Given the description of an element on the screen output the (x, y) to click on. 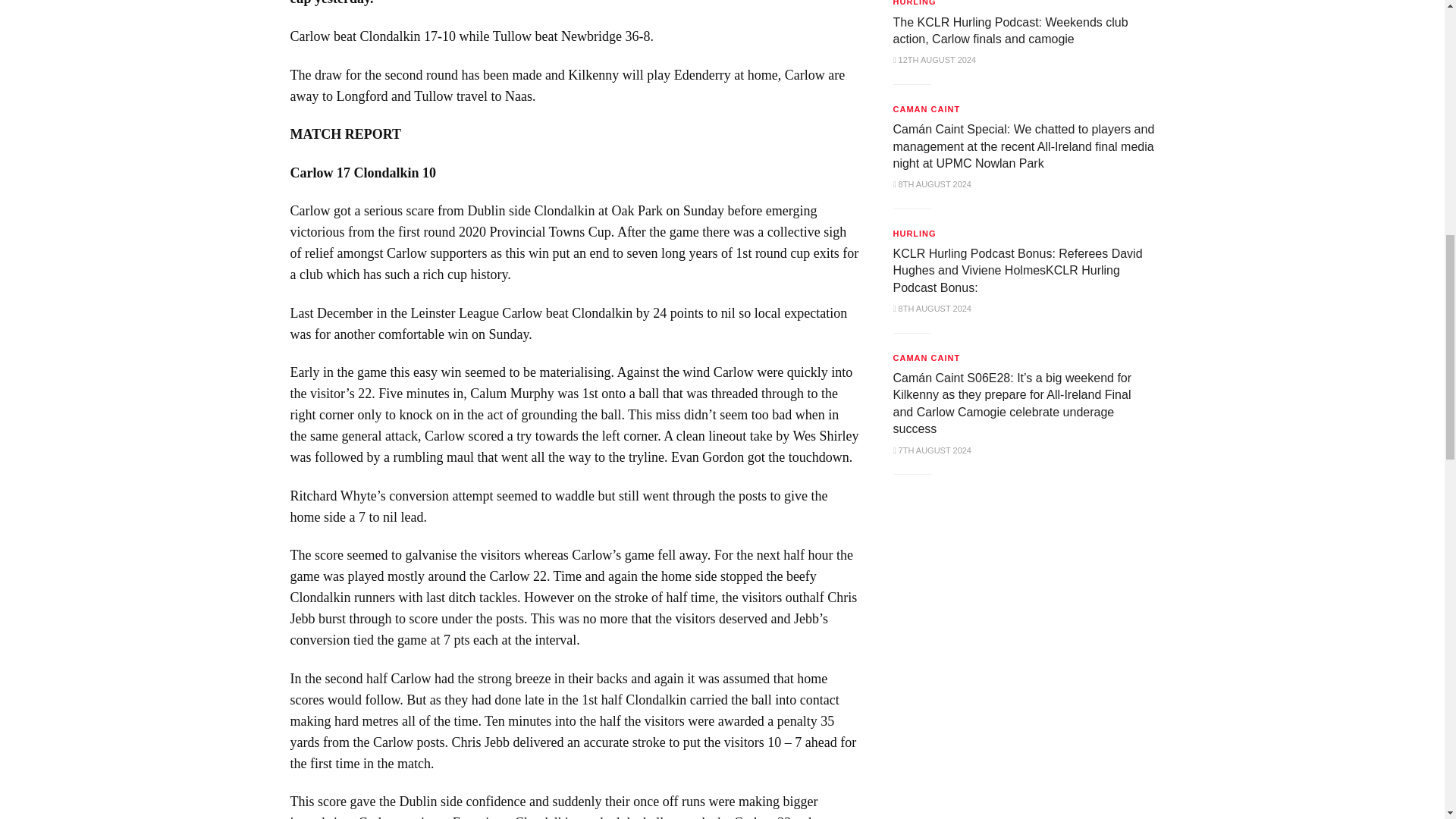
HURLING (914, 4)
CAMAN CAINT (926, 108)
8TH AUGUST 2024 (932, 184)
12TH AUGUST 2024 (934, 59)
